Given the description of an element on the screen output the (x, y) to click on. 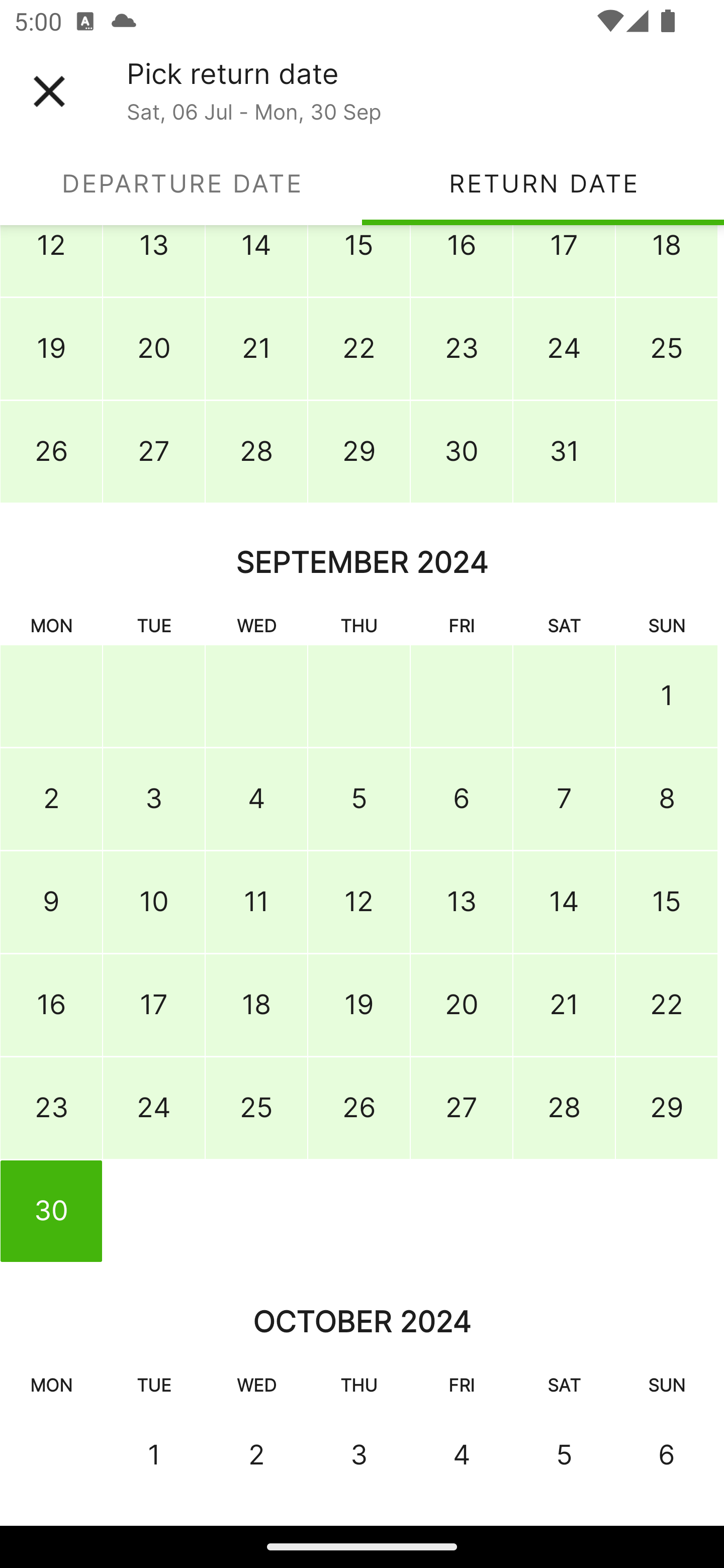
Departure Date DEPARTURE DATE (181, 183)
